Given the description of an element on the screen output the (x, y) to click on. 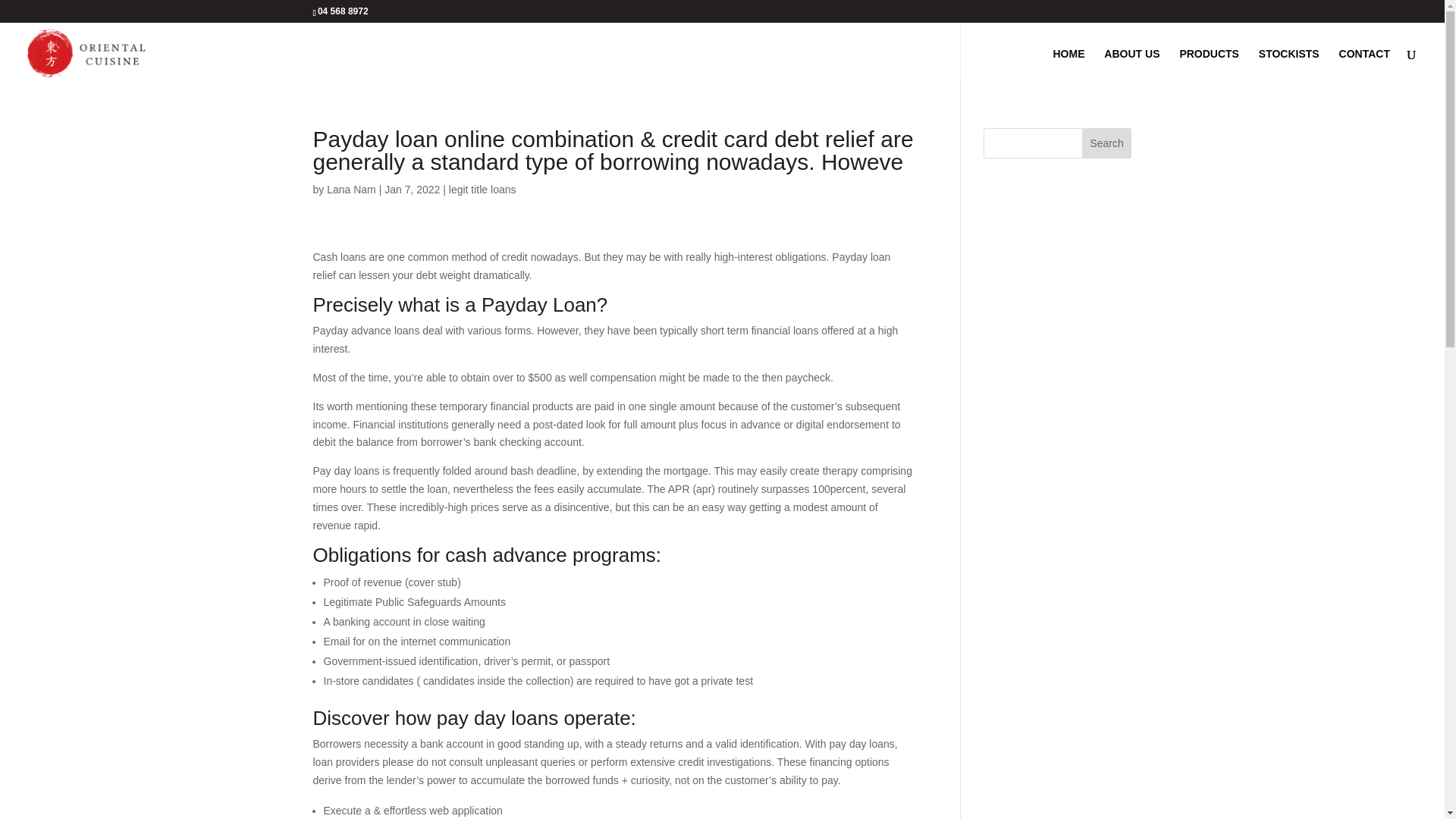
Search (1106, 142)
HOME (1068, 66)
STOCKISTS (1289, 66)
ABOUT US (1130, 66)
Search (1106, 142)
CONTACT (1364, 66)
PRODUCTS (1209, 66)
Posts by Lana Nam (350, 189)
Lana Nam (350, 189)
legit title loans (482, 189)
